Given the description of an element on the screen output the (x, y) to click on. 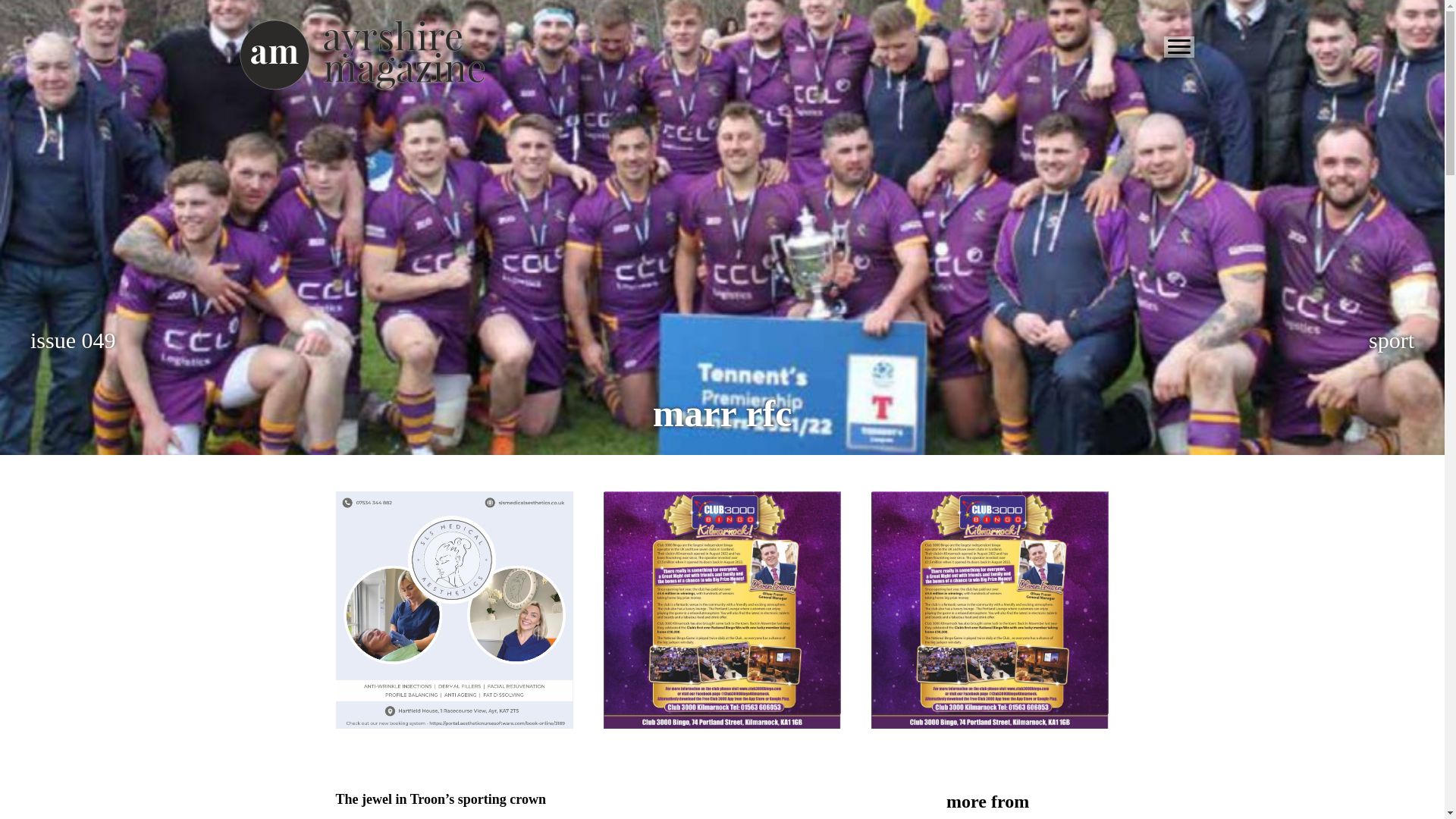
sport (1390, 339)
Ayrshire magazine logo (361, 55)
issue 049 (73, 339)
